Given the description of an element on the screen output the (x, y) to click on. 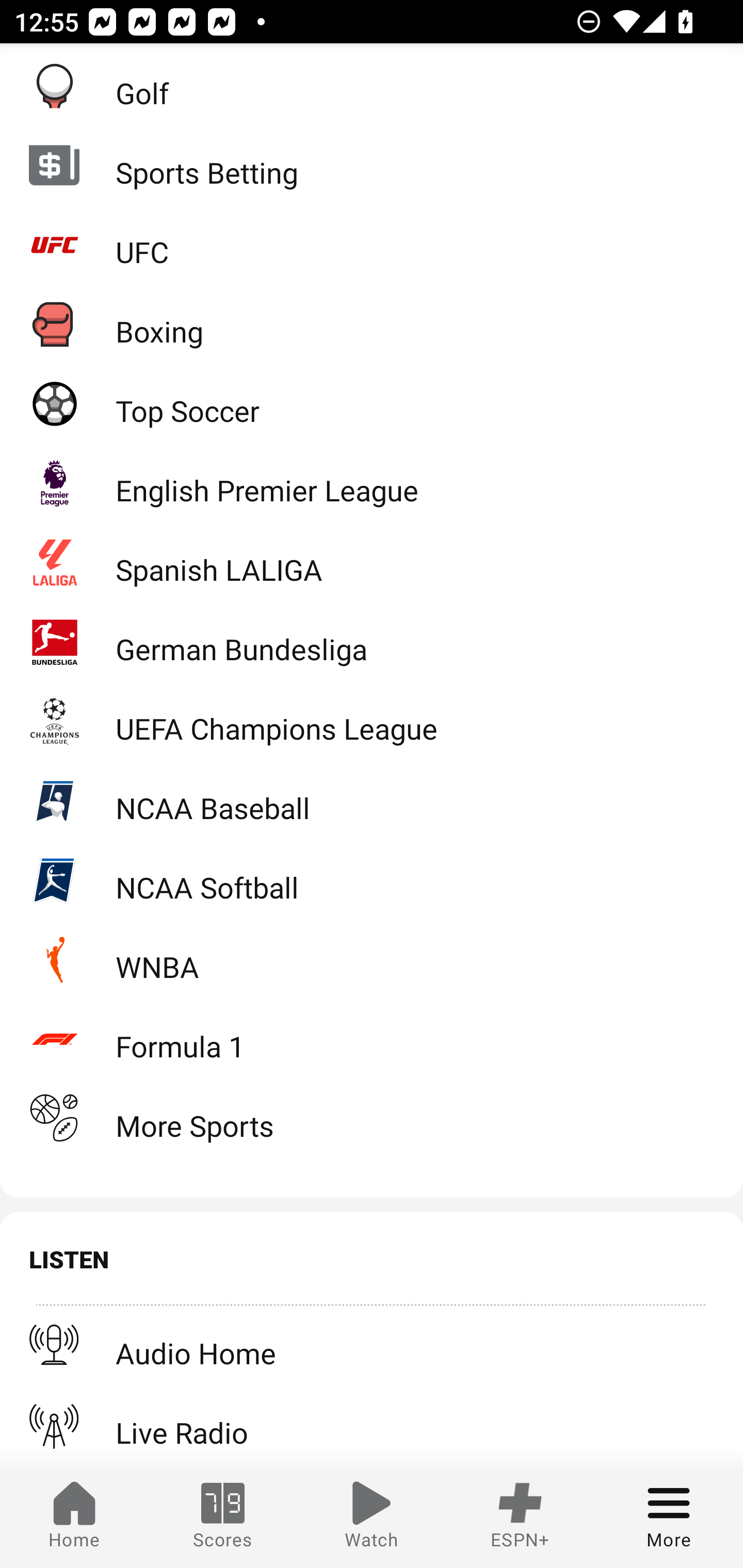
Golf (371, 85)
Sports Betting (371, 165)
UFC (371, 244)
Boxing (371, 323)
Top Soccer (371, 403)
English Premier League (371, 482)
Spanish LALIGA (371, 562)
German Bundesliga (371, 642)
UEFA Champions League (371, 721)
NCAA Baseball (371, 800)
NCAA Softball (371, 880)
WNBA (371, 959)
Formula 1 (371, 1038)
More Sports A More Sports (371, 1117)
Audio Home + Audio Home (371, 1346)
Live Radio ) Live Radio (371, 1425)
Home (74, 1517)
Scores (222, 1517)
Watch (371, 1517)
ESPN+ (519, 1517)
